Given the description of an element on the screen output the (x, y) to click on. 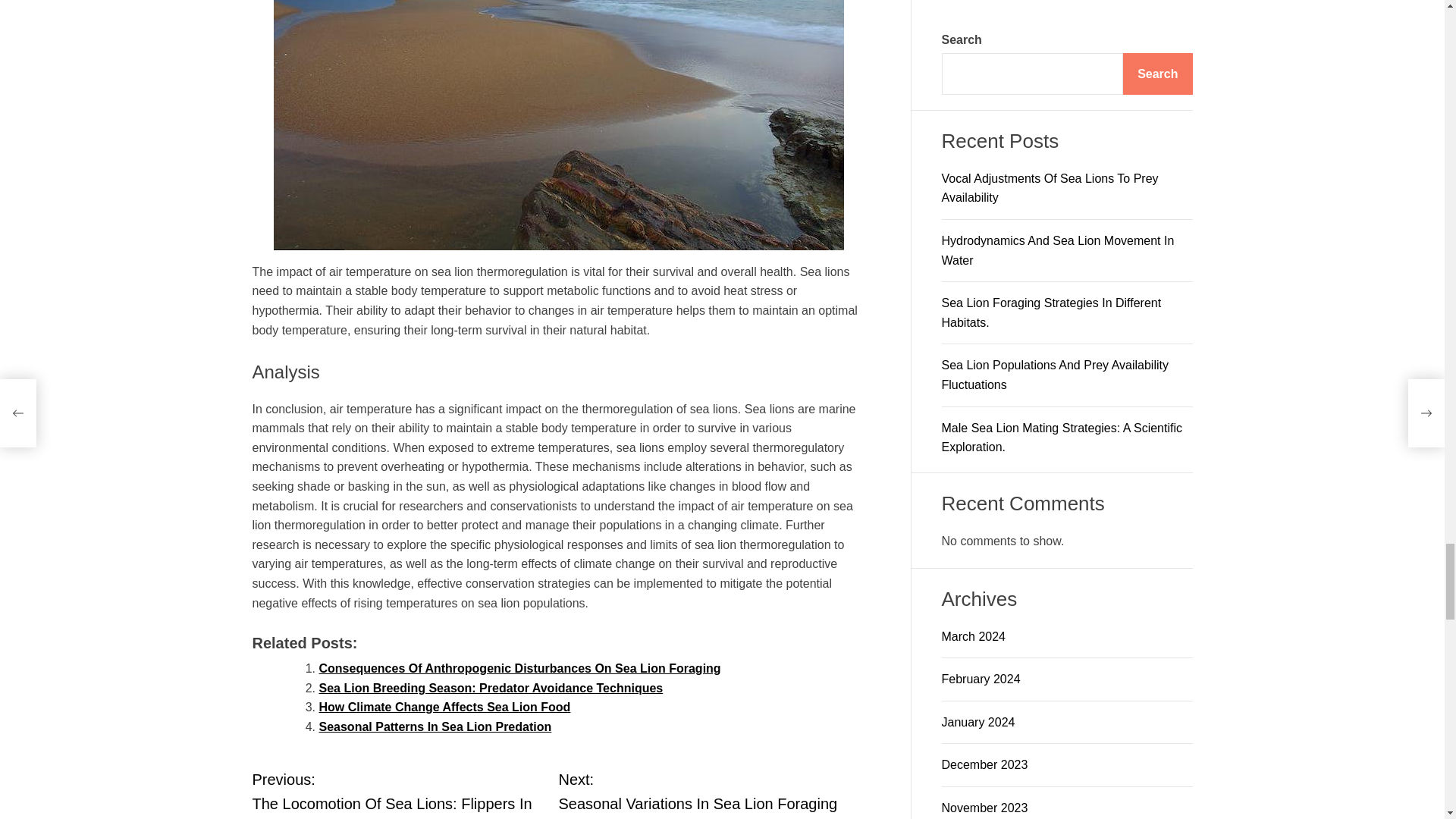
How Climate Change Affects Sea Lion Food (444, 707)
Sea Lion Breeding Season: Predator Avoidance Techniques (490, 687)
How Climate Change Affects Sea Lion Food (444, 707)
Sea Lion Breeding Season: Predator Avoidance Techniques (490, 687)
Seasonal Patterns In Sea Lion Predation (434, 726)
Seasonal Patterns In Sea Lion Predation (434, 726)
